Given the description of an element on the screen output the (x, y) to click on. 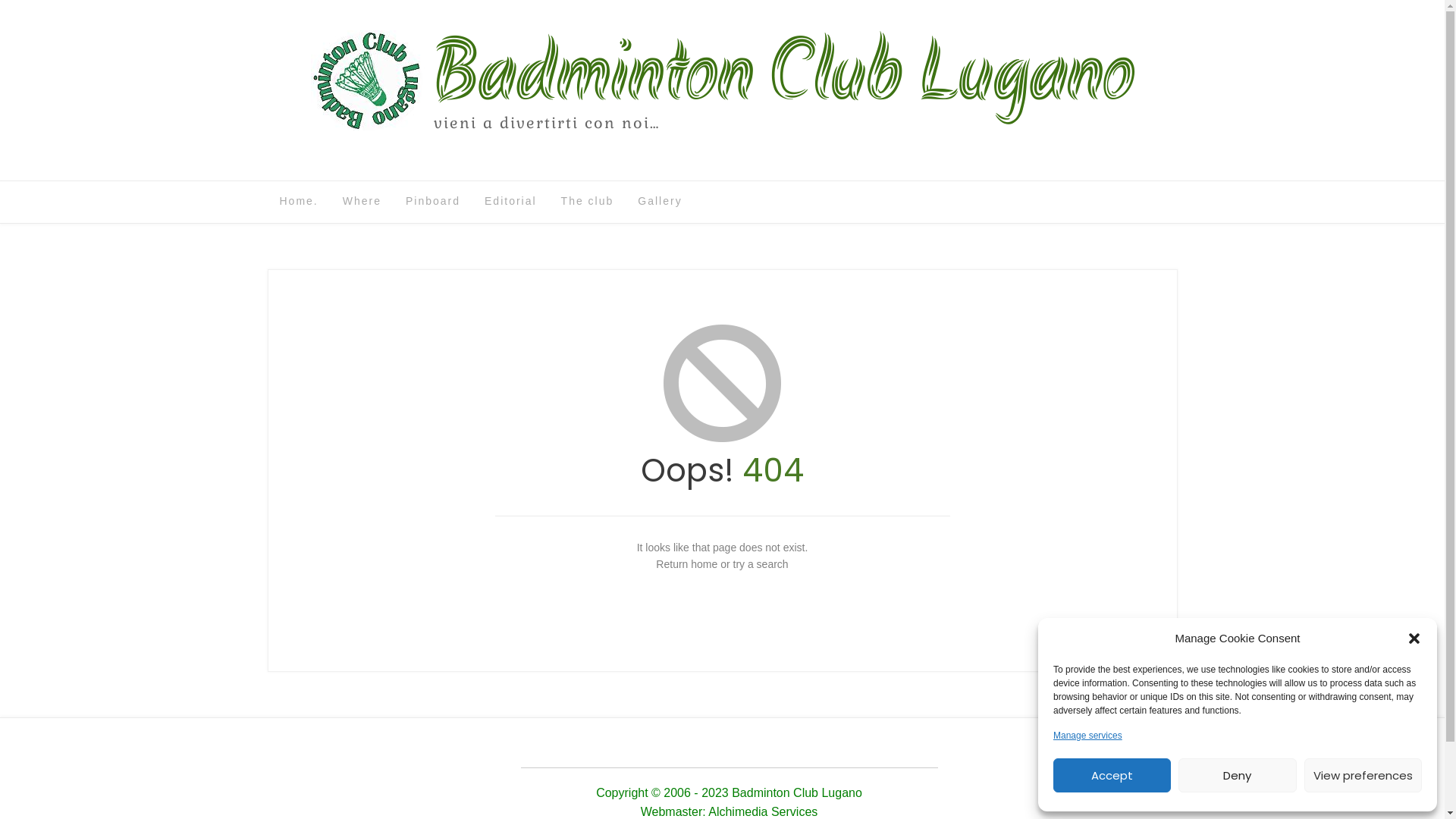
Home. Element type: text (297, 201)
Deny Element type: text (1236, 775)
View preferences Element type: text (1362, 775)
Pinboard Element type: text (432, 201)
Accept Element type: text (1111, 775)
Where Element type: text (361, 201)
Badminton Club Lugano Element type: text (783, 73)
Webmaster: Alchimedia Services Element type: text (729, 812)
Editorial Element type: text (510, 201)
Gallery Element type: text (659, 201)
Manage services Element type: text (1087, 735)
The club Element type: text (587, 201)
